Given the description of an element on the screen output the (x, y) to click on. 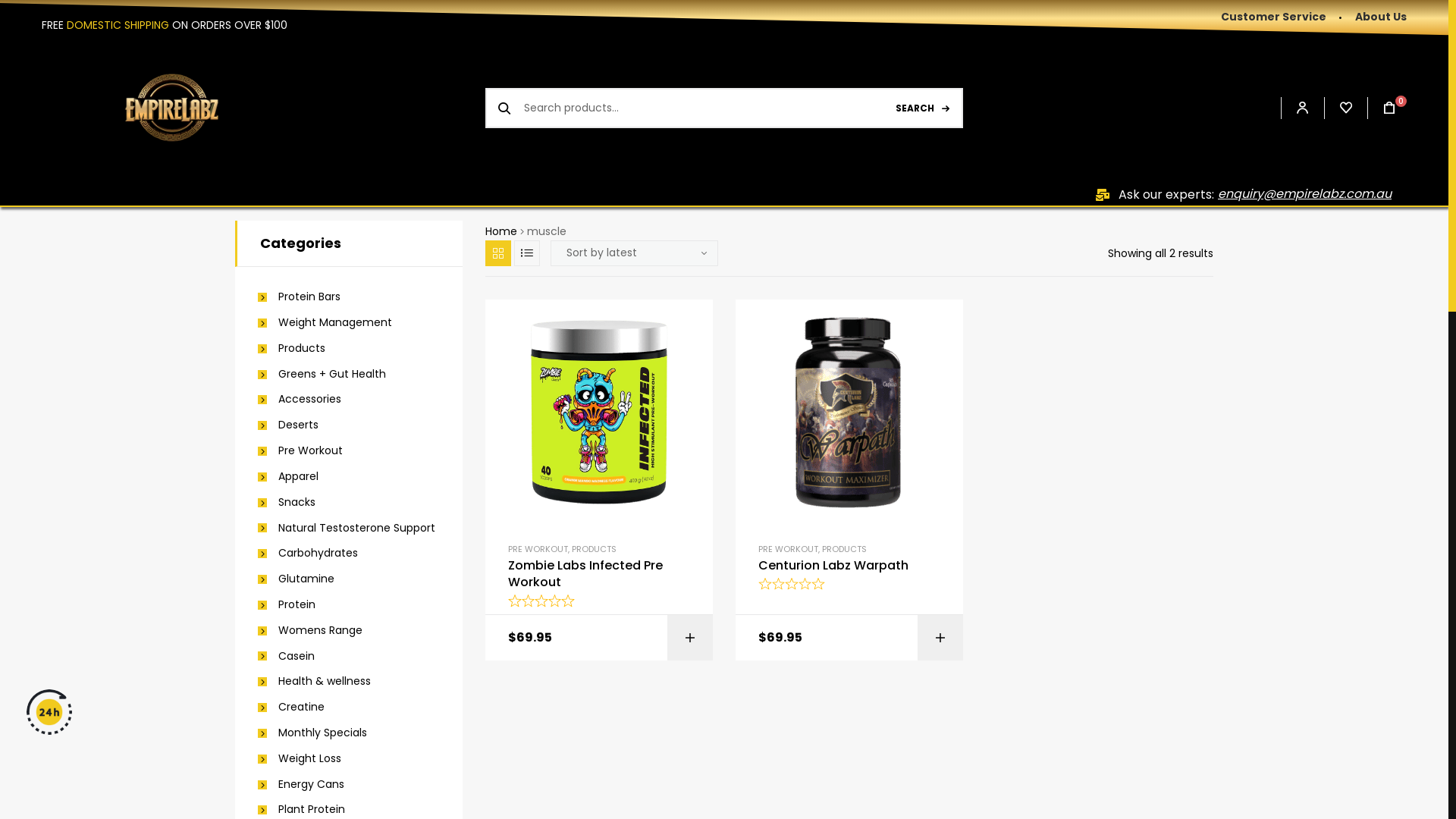
PRE WORKOUT Element type: text (788, 548)
PRODUCTS Element type: text (844, 548)
Grid View Element type: hover (498, 253)
Products Element type: text (291, 348)
Creatine Element type: text (290, 707)
Home Element type: text (501, 230)
Energy Cans Element type: text (300, 784)
Health & wellness Element type: text (313, 681)
Pre Workout Element type: text (299, 450)
Accessories Element type: text (299, 399)
Customer Service Element type: text (1273, 16)
Weight Management Element type: text (324, 322)
Plant Protein Element type: text (301, 809)
0 Element type: text (1381, 108)
Casein Element type: text (285, 656)
About Us Element type: text (1372, 16)
Centurion Labz Warpath Element type: text (849, 565)
List View Element type: hover (526, 253)
Deserts Element type: text (287, 425)
enquiry@empirelabz.com.au Element type: text (1304, 193)
Greens + Gut Health Element type: text (321, 374)
Snacks Element type: text (286, 502)
Monthly Specials Element type: text (312, 732)
PRODUCTS Element type: text (593, 548)
Apparel Element type: text (287, 476)
Natural Testosterone Support Element type: text (346, 527)
PRE WORKOUT Element type: text (537, 548)
Protein Element type: text (286, 604)
Zombie Labs Infected Pre Workout Element type: text (599, 574)
SEARCH Element type: text (922, 107)
Womens Range Element type: text (309, 630)
Glutamine Element type: text (295, 578)
Protein Bars Element type: text (298, 296)
Carbohydrates Element type: text (307, 553)
Weight Loss Element type: text (299, 758)
